Given the description of an element on the screen output the (x, y) to click on. 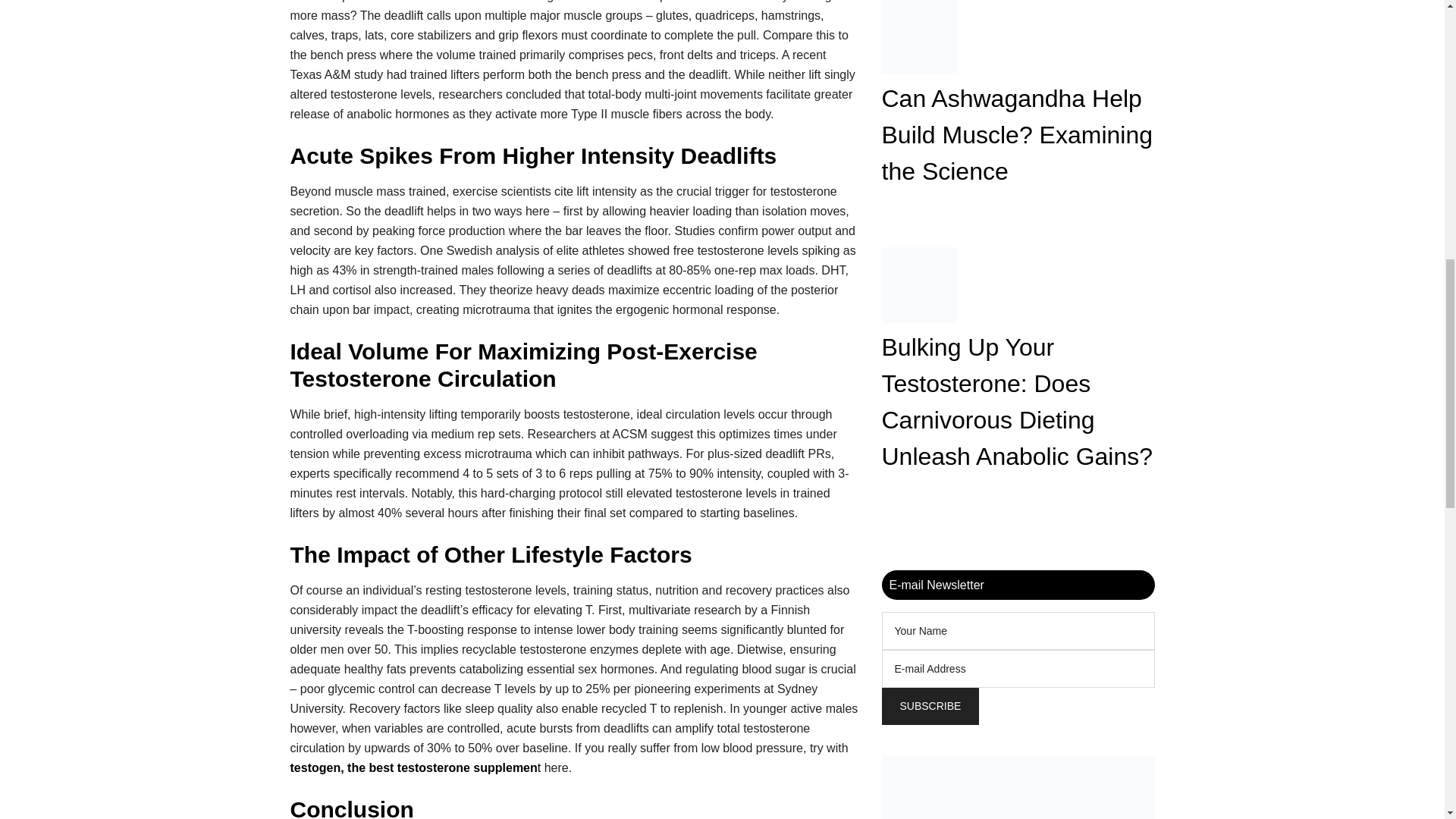
testogen, the best testosterone supplemen (413, 767)
Can Ashwagandha Help Build Muscle? Examining the Science (1016, 135)
Subscribe (929, 705)
